Given the description of an element on the screen output the (x, y) to click on. 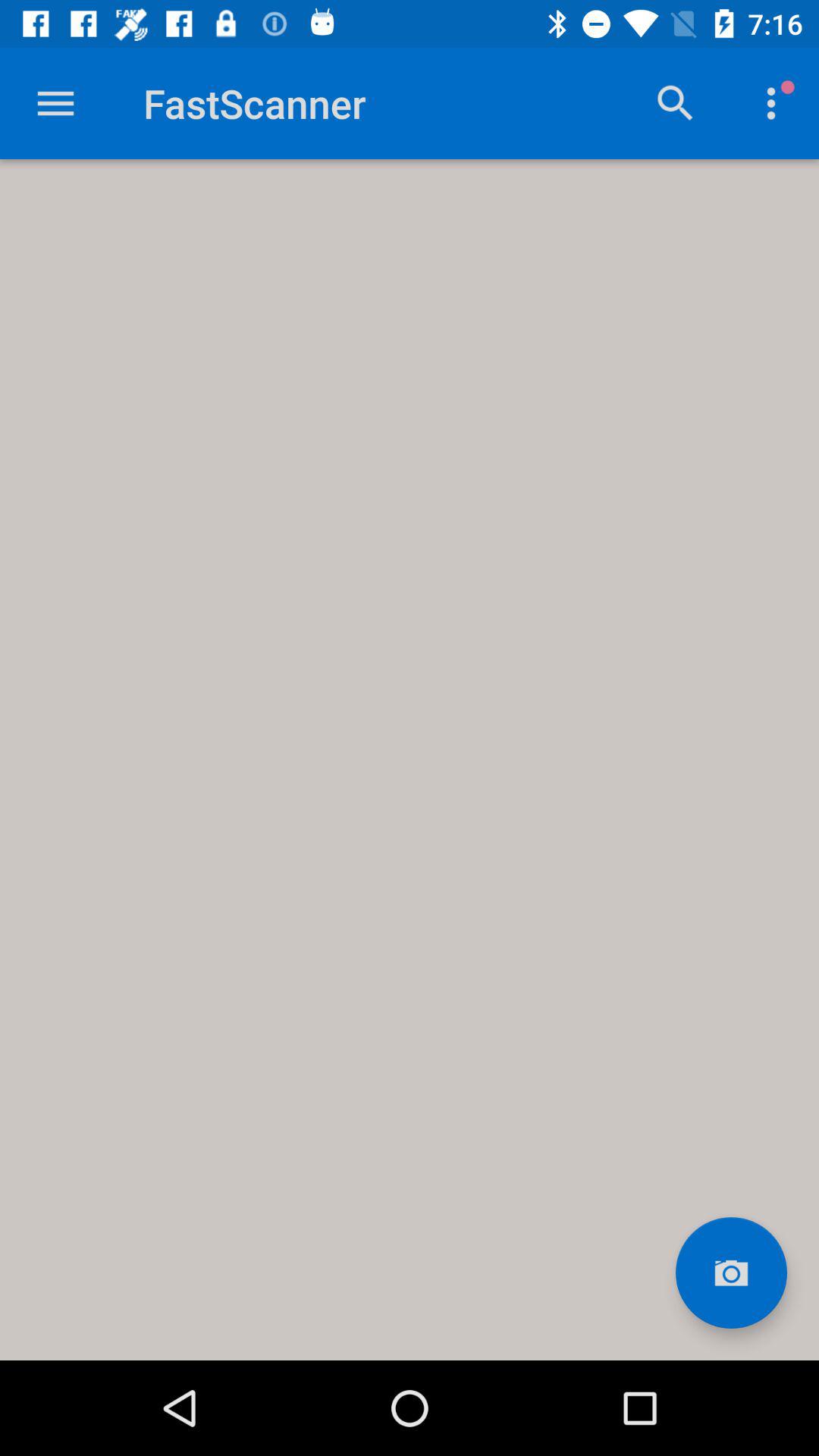
open search box (675, 103)
